Given the description of an element on the screen output the (x, y) to click on. 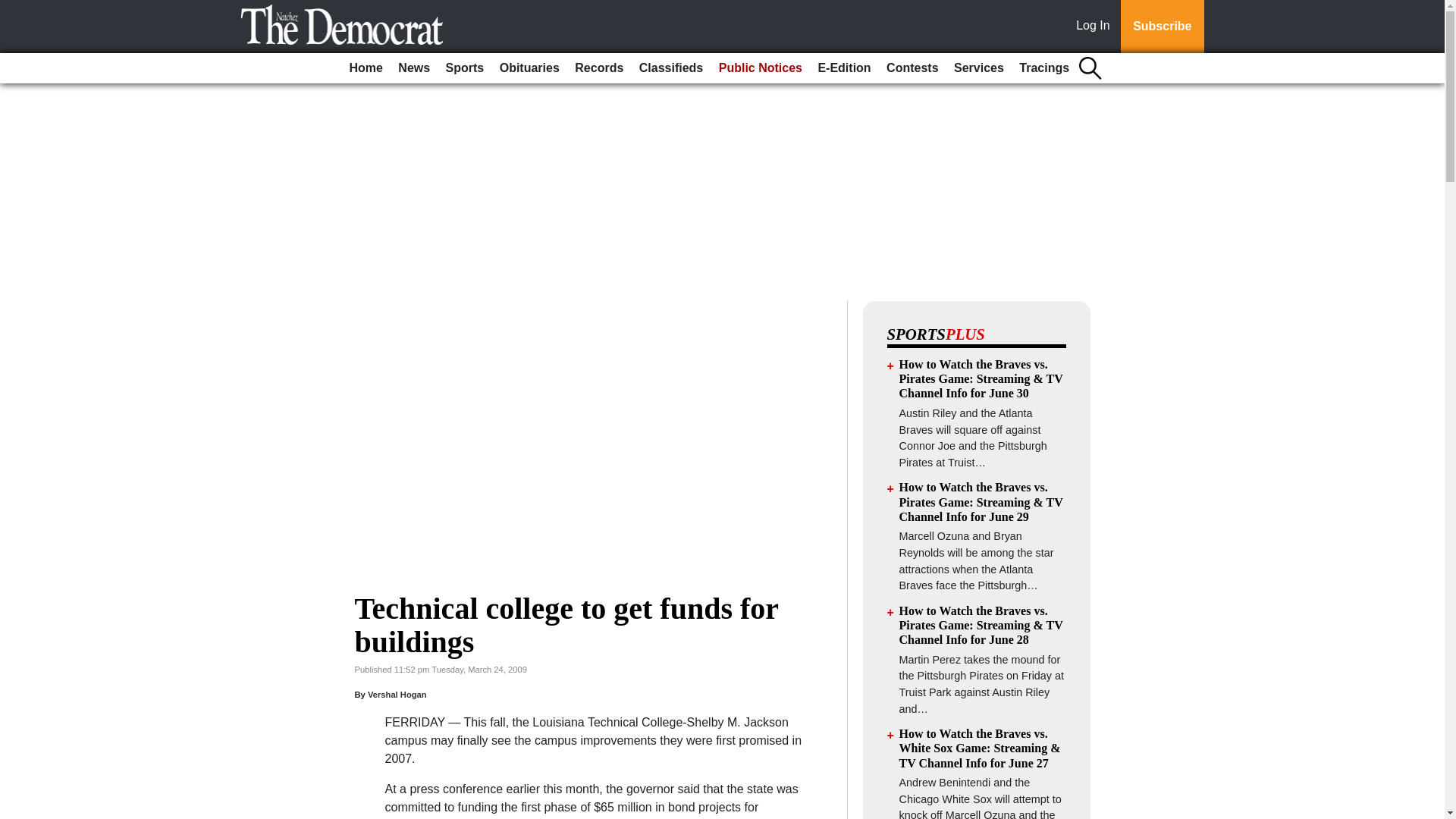
Home (365, 68)
Classifieds (671, 68)
Subscribe (1162, 26)
Go (13, 9)
News (413, 68)
Records (598, 68)
E-Edition (843, 68)
Sports (464, 68)
Obituaries (529, 68)
Vershal Hogan (397, 694)
Services (978, 68)
Public Notices (760, 68)
Log In (1095, 26)
Contests (911, 68)
Tracings (1044, 68)
